Given the description of an element on the screen output the (x, y) to click on. 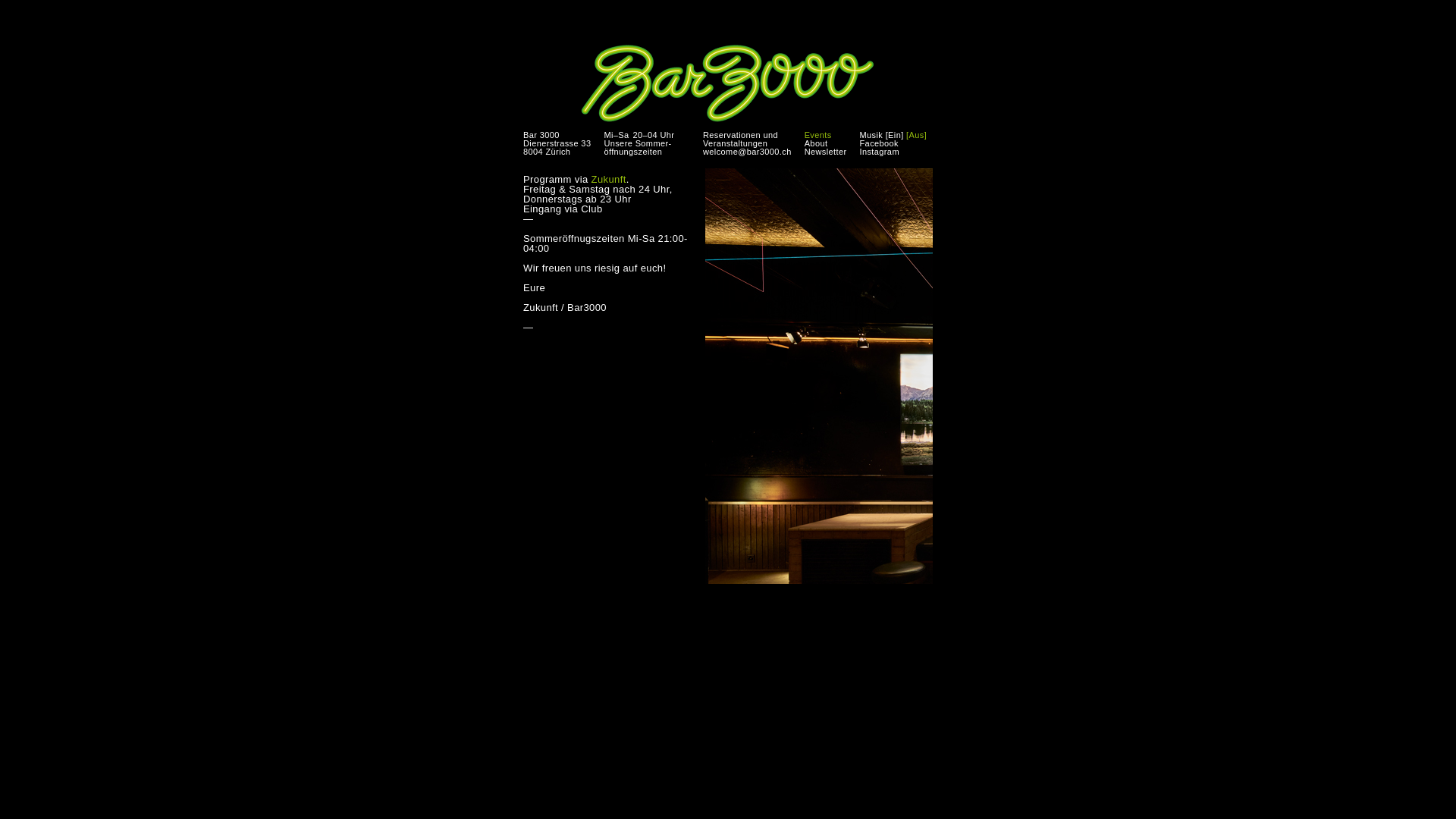
Newsletter Element type: text (825, 151)
[Ein] Element type: text (894, 134)
Events Element type: text (817, 134)
welcome@bar3000.ch Element type: text (746, 151)
Reservationen und
Veranstaltungen Element type: text (740, 138)
Instagram Element type: text (879, 151)
Zukunft Element type: text (608, 179)
Facebook Element type: text (878, 142)
About Element type: text (816, 142)
[Aus] Element type: text (916, 134)
